Given the description of an element on the screen output the (x, y) to click on. 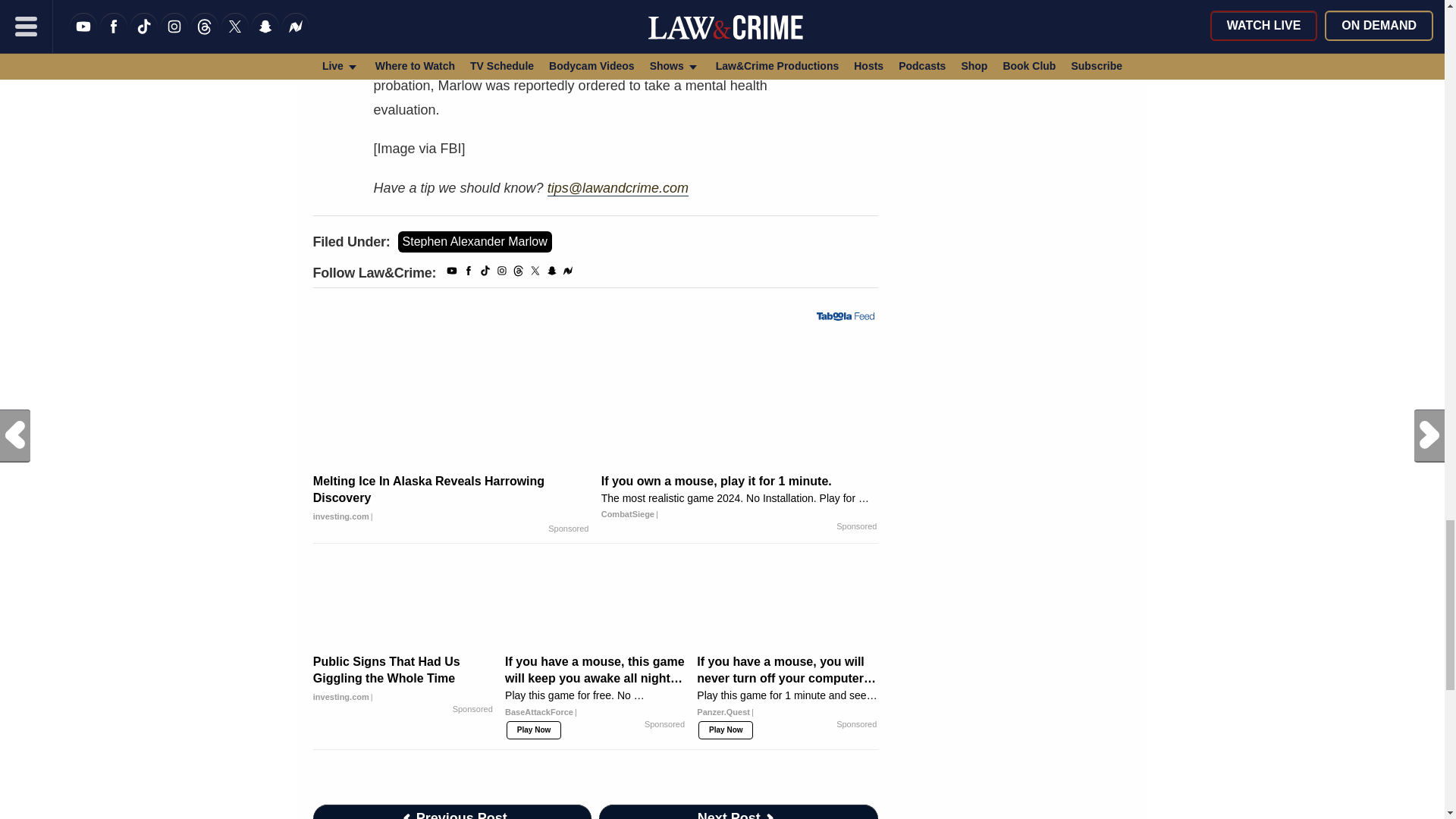
YouTube (451, 273)
